Given the description of an element on the screen output the (x, y) to click on. 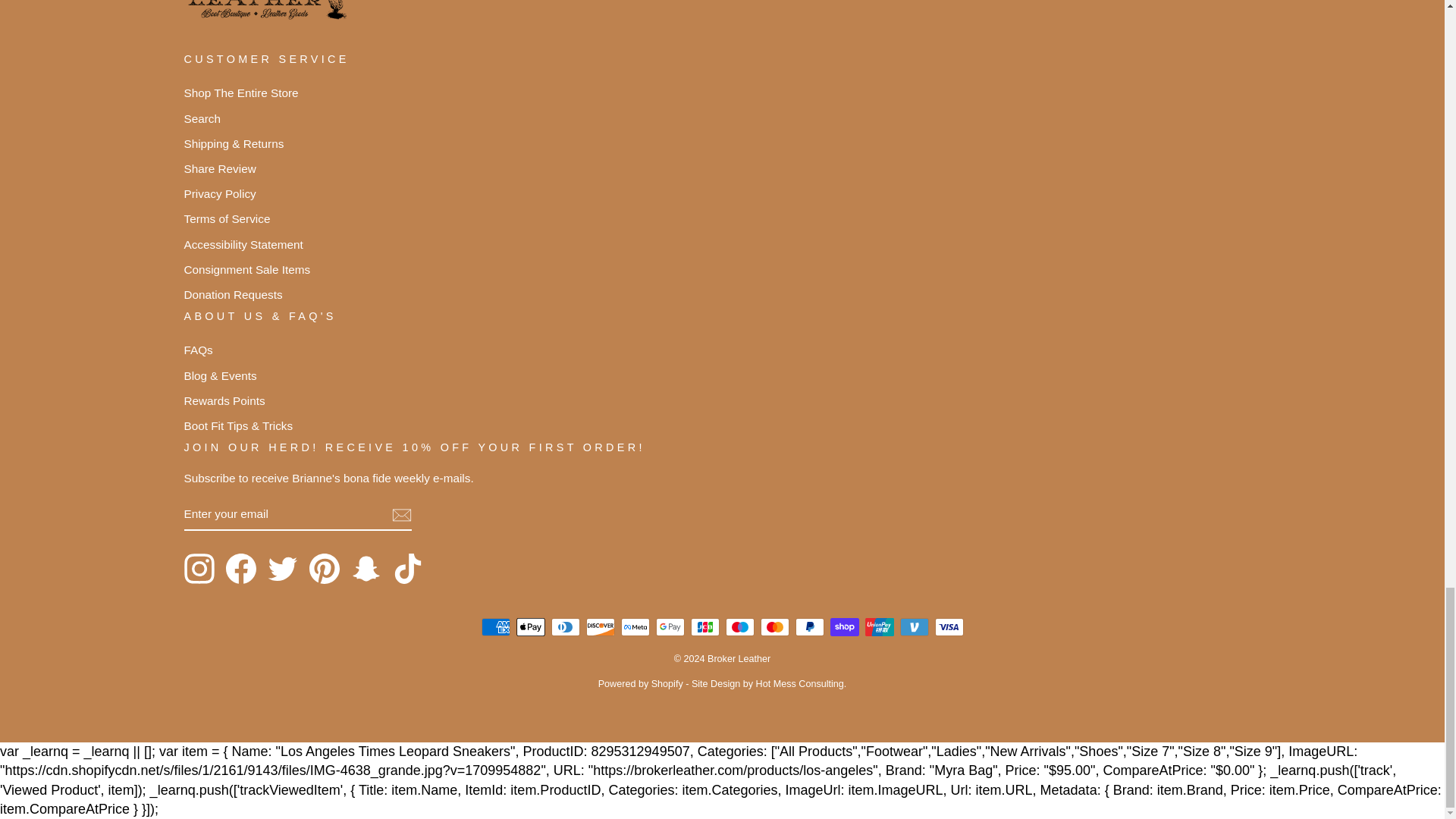
Broker Leather on Pinterest (323, 568)
Discover (599, 627)
Apple Pay (529, 627)
Broker Leather on Instagram (198, 568)
American Express (494, 627)
Broker Leather on Snapchat (365, 568)
Diners Club (564, 627)
Broker Leather on Twitter (281, 568)
Broker Leather on Facebook (240, 568)
Broker Leather on TikTok (408, 568)
